Given the description of an element on the screen output the (x, y) to click on. 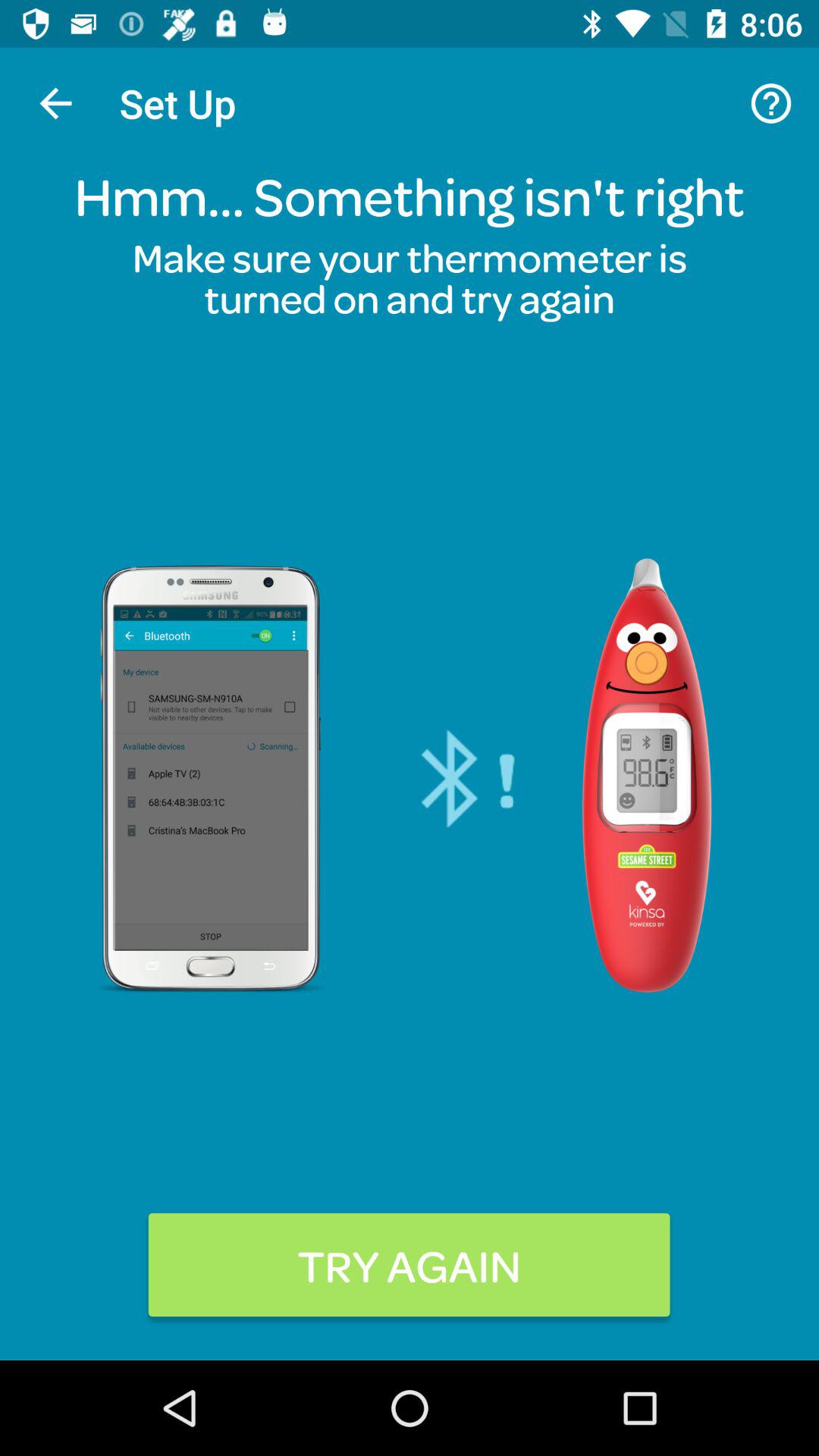
go back (55, 103)
